Given the description of an element on the screen output the (x, y) to click on. 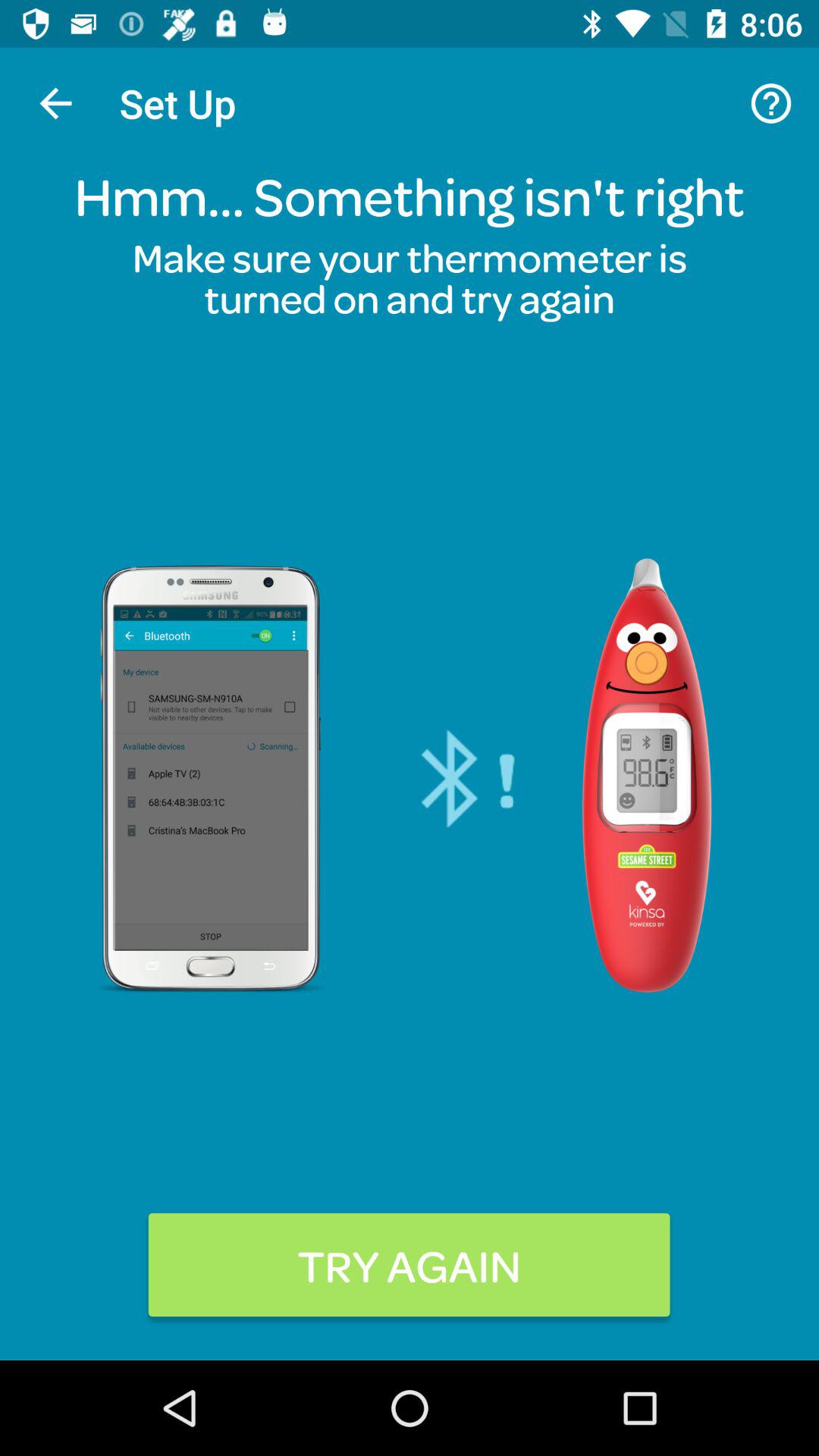
go back (55, 103)
